Given the description of an element on the screen output the (x, y) to click on. 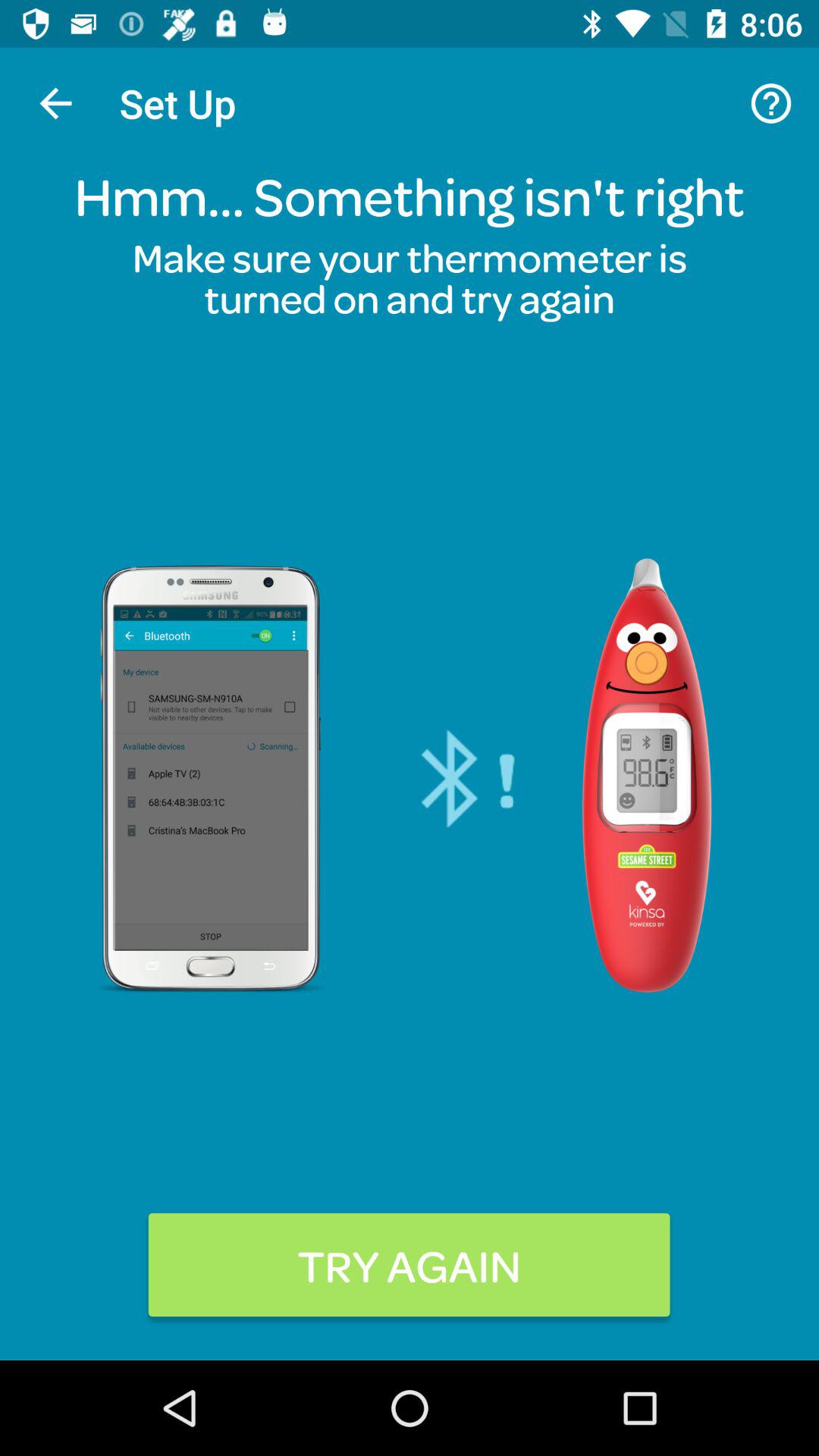
go back (55, 103)
